Given the description of an element on the screen output the (x, y) to click on. 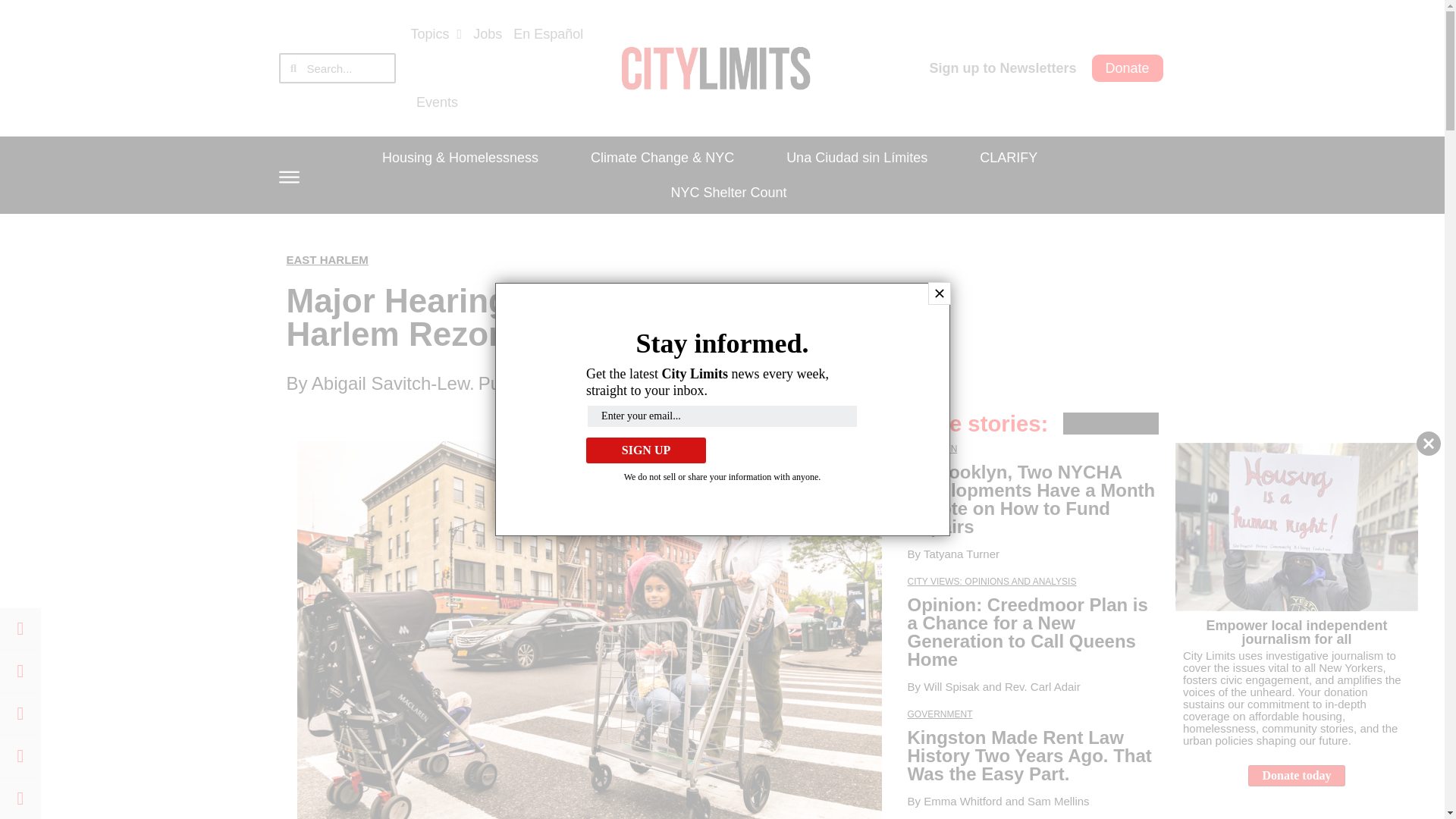
Jobs (487, 33)
Read Articles in the Brooklyn category (931, 448)
Topics (436, 33)
Read Articles in the East Harlem category (327, 259)
Read All Posts By Tatyana Turner (960, 553)
Sign up to Newsletters (1003, 68)
Donate (1127, 67)
Events (437, 101)
Read All Posts By Abigail Savitch-Lew (389, 383)
